Given the description of an element on the screen output the (x, y) to click on. 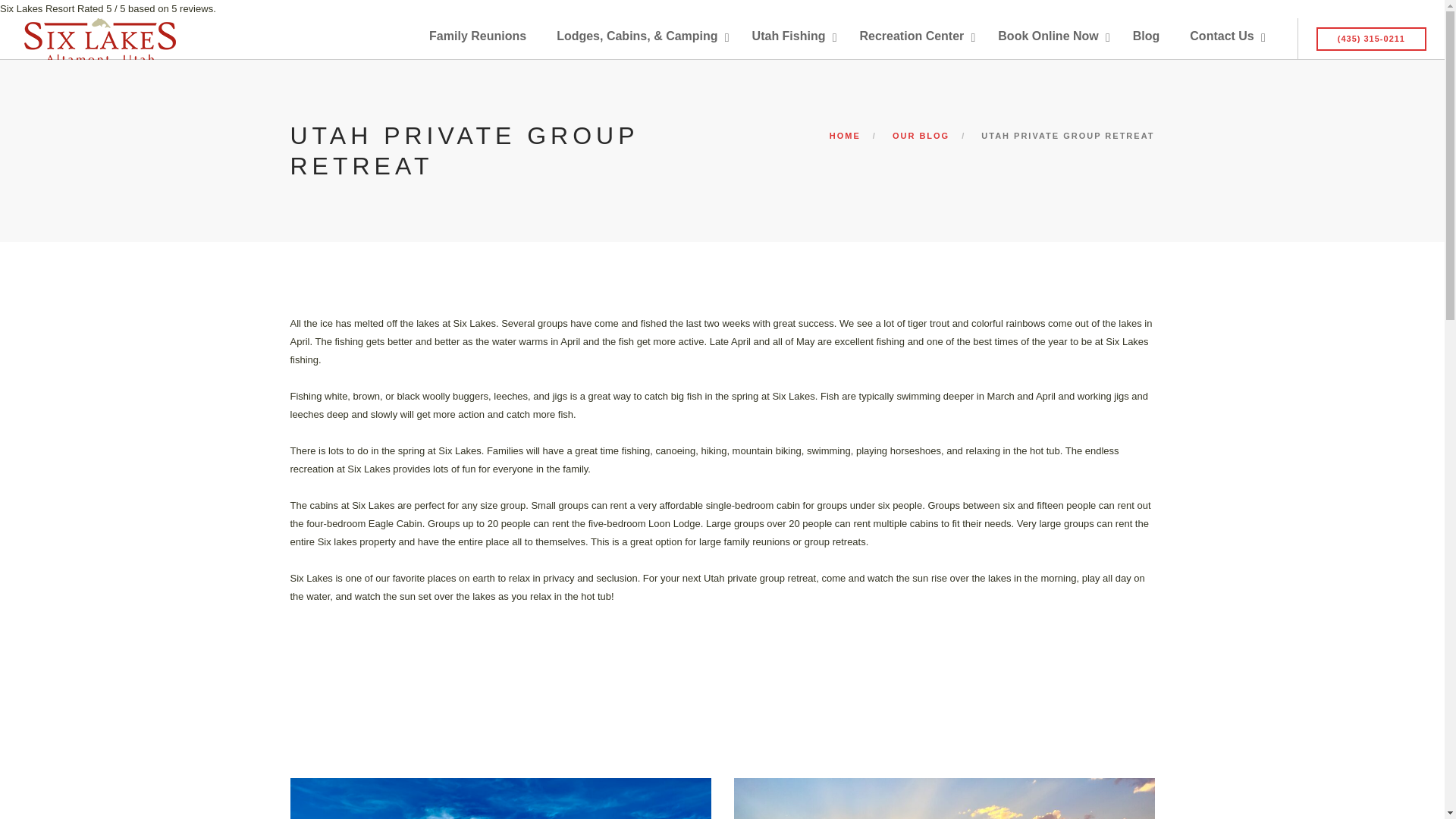
Recreation Center (913, 36)
Private Group Retreat (499, 798)
Book Online Now (1049, 36)
Book Online Now (1049, 36)
Utah Fishing (790, 36)
Family Reunions (477, 36)
